Given the description of an element on the screen output the (x, y) to click on. 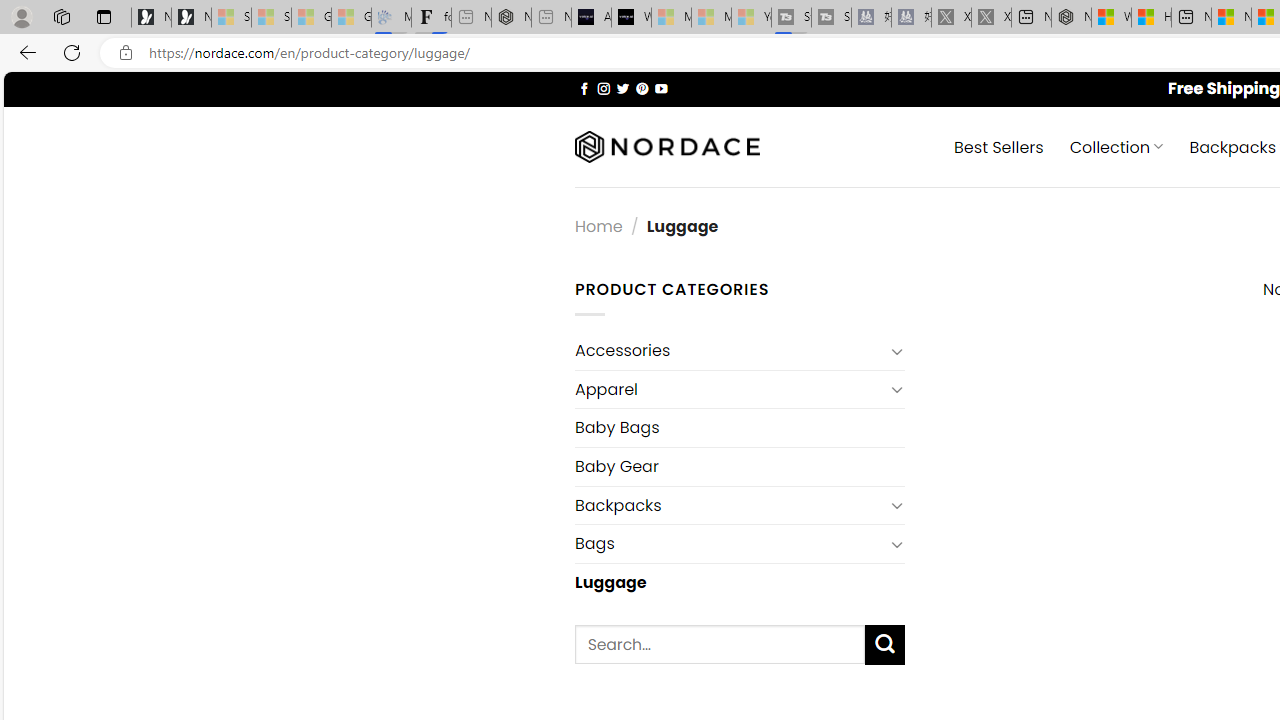
AI Voice Changer for PC and Mac - Voice.ai (591, 17)
  Best Sellers (998, 146)
Backpacks (729, 505)
Baby Bags (739, 427)
Microsoft Start Sports - Sleeping (671, 17)
